Given the description of an element on the screen output the (x, y) to click on. 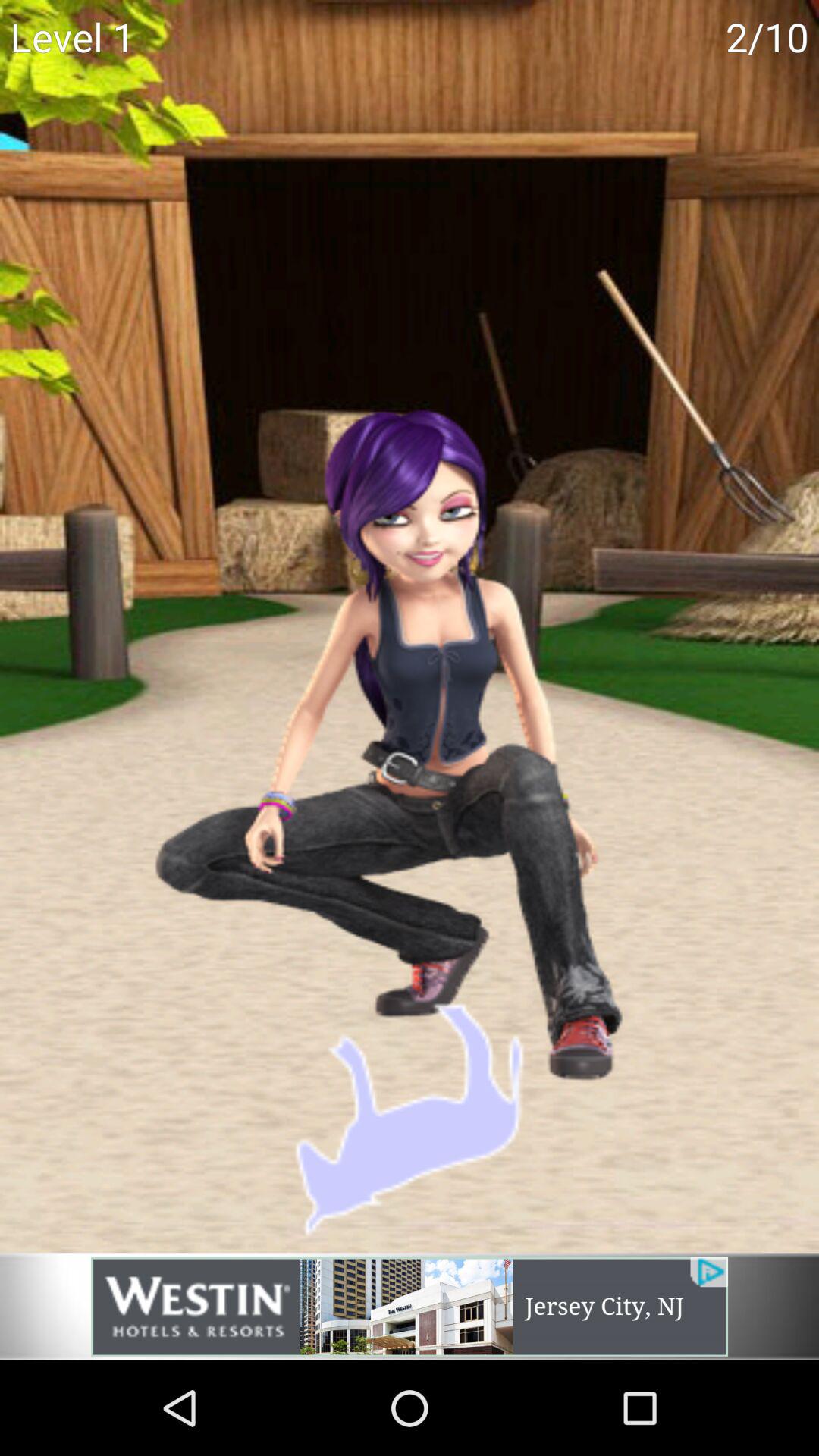
select the animal shape which is in the picture (409, 1120)
